Given the description of an element on the screen output the (x, y) to click on. 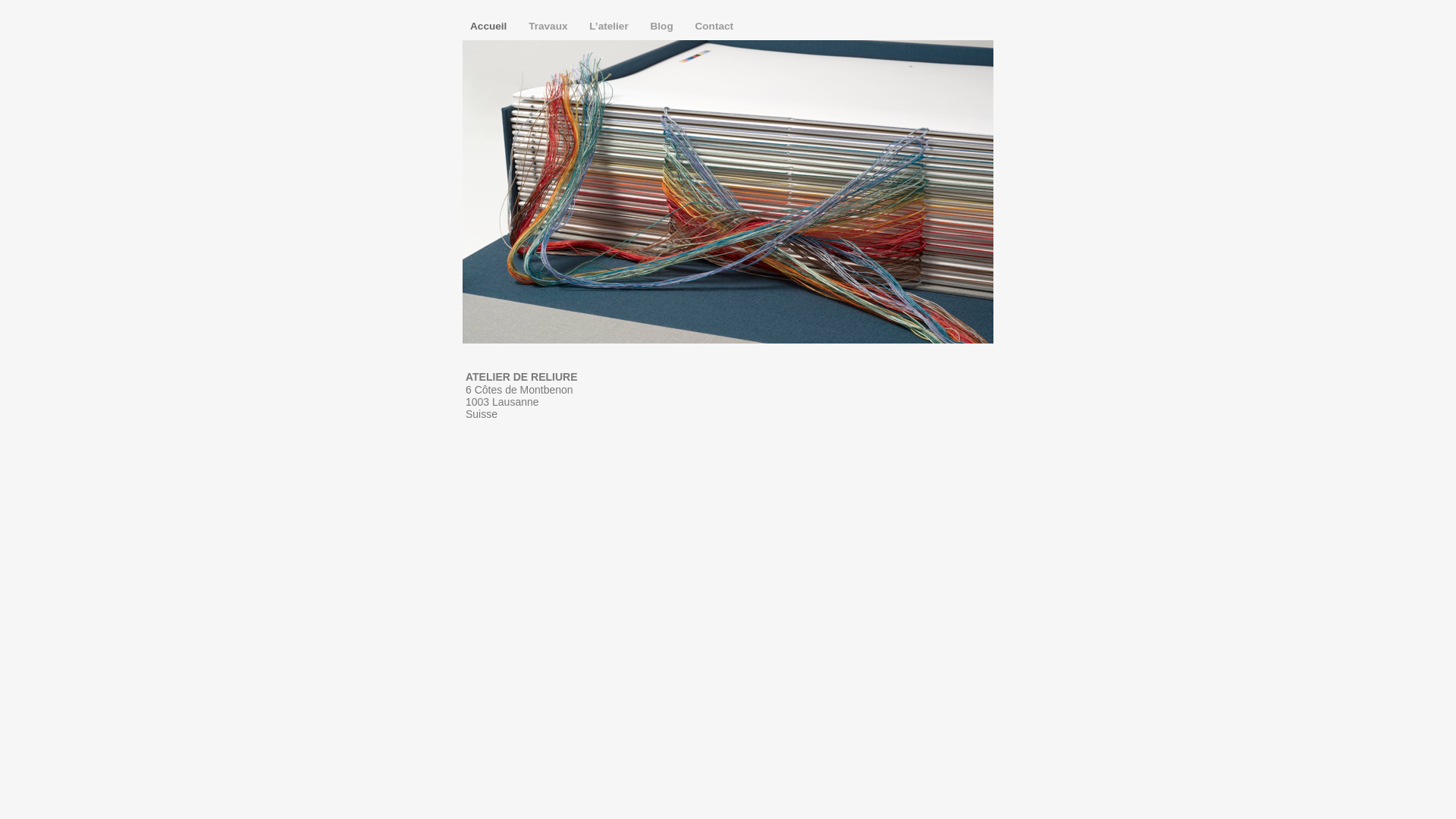
Travaux Element type: text (549, 25)
Contact Element type: text (713, 25)
Accueil Element type: text (489, 25)
Blog Element type: text (662, 25)
